Given the description of an element on the screen output the (x, y) to click on. 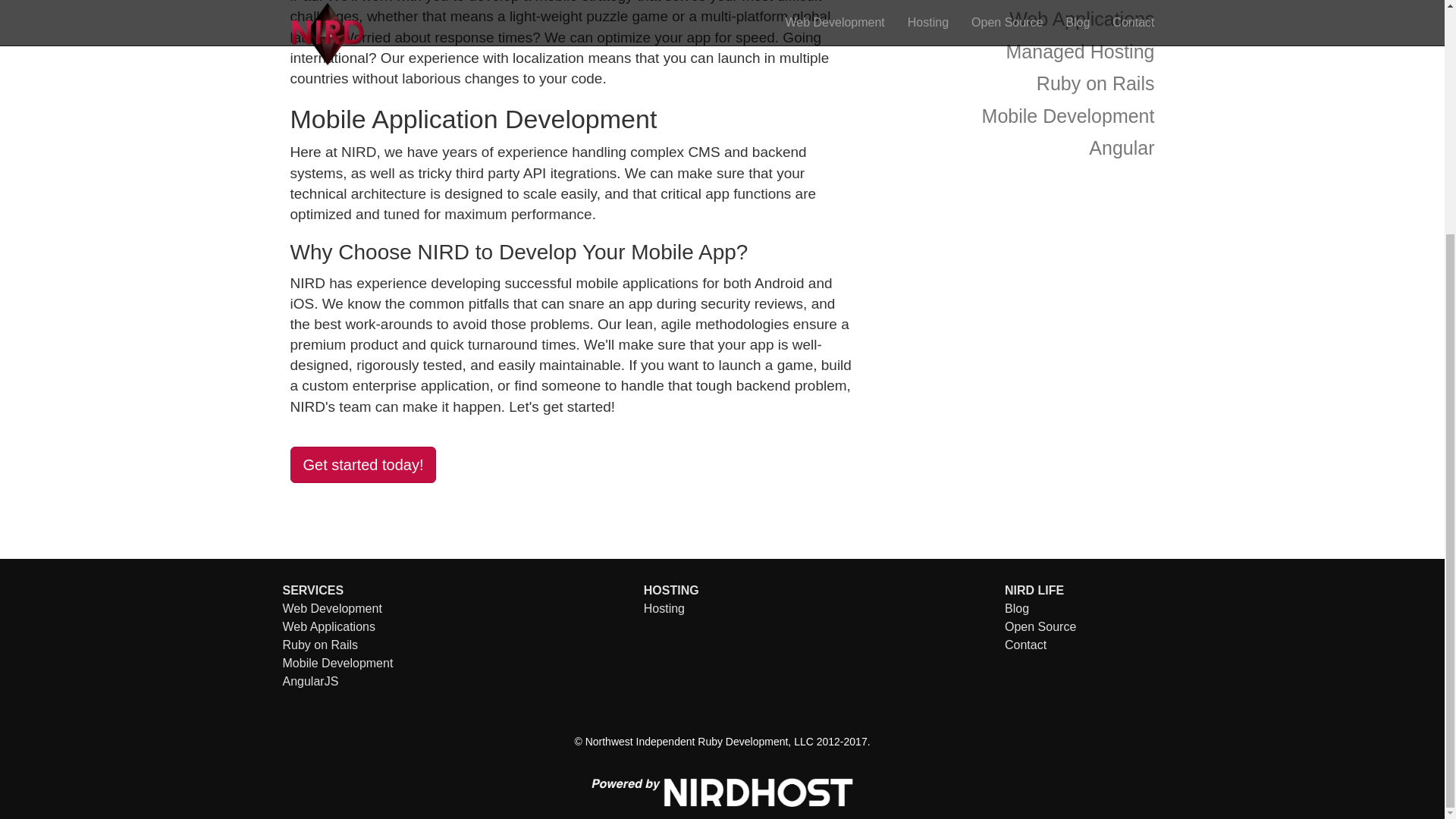
Mobile Development (1017, 115)
Web Development (331, 608)
Blog (1016, 608)
Angular (1017, 147)
Hosting (663, 608)
Ruby on Rails (320, 644)
Get started today! (362, 465)
Managed Hosting (1017, 51)
AngularJS (309, 680)
Web Applications (328, 626)
Ruby on Rails (1017, 83)
Contact (1025, 644)
Web Applications (1017, 19)
Open Source (1039, 626)
Mobile Development (337, 662)
